Given the description of an element on the screen output the (x, y) to click on. 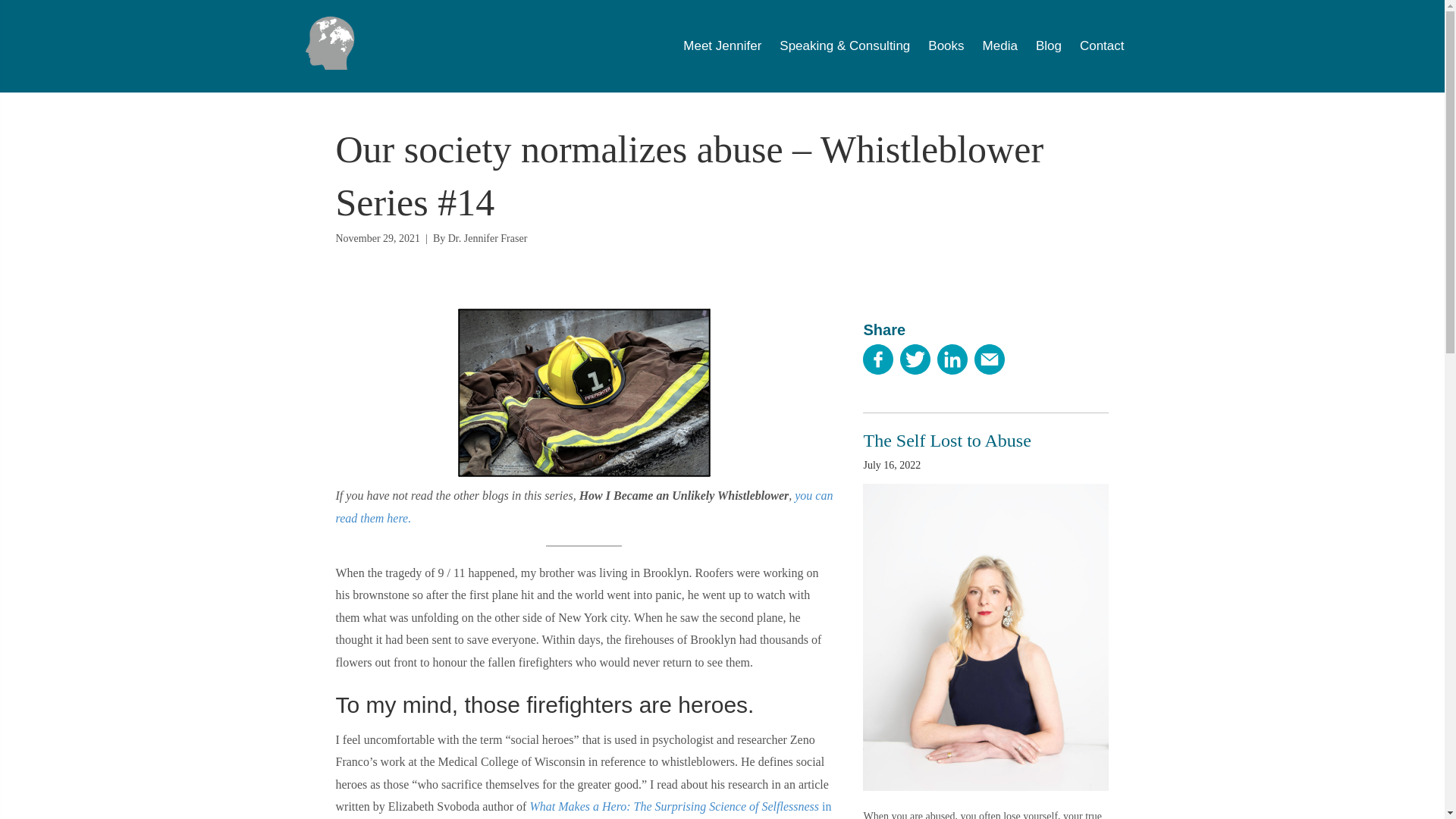
The Self Lost to Abuse (946, 440)
The Self Lost to Abuse (946, 440)
mph-consulting (330, 42)
Books (945, 45)
Meet Jennifer (721, 45)
Media (999, 45)
Blog (1048, 45)
Firefighters are heroes (584, 392)
The Self Lost to Abuse (985, 635)
